Given the description of an element on the screen output the (x, y) to click on. 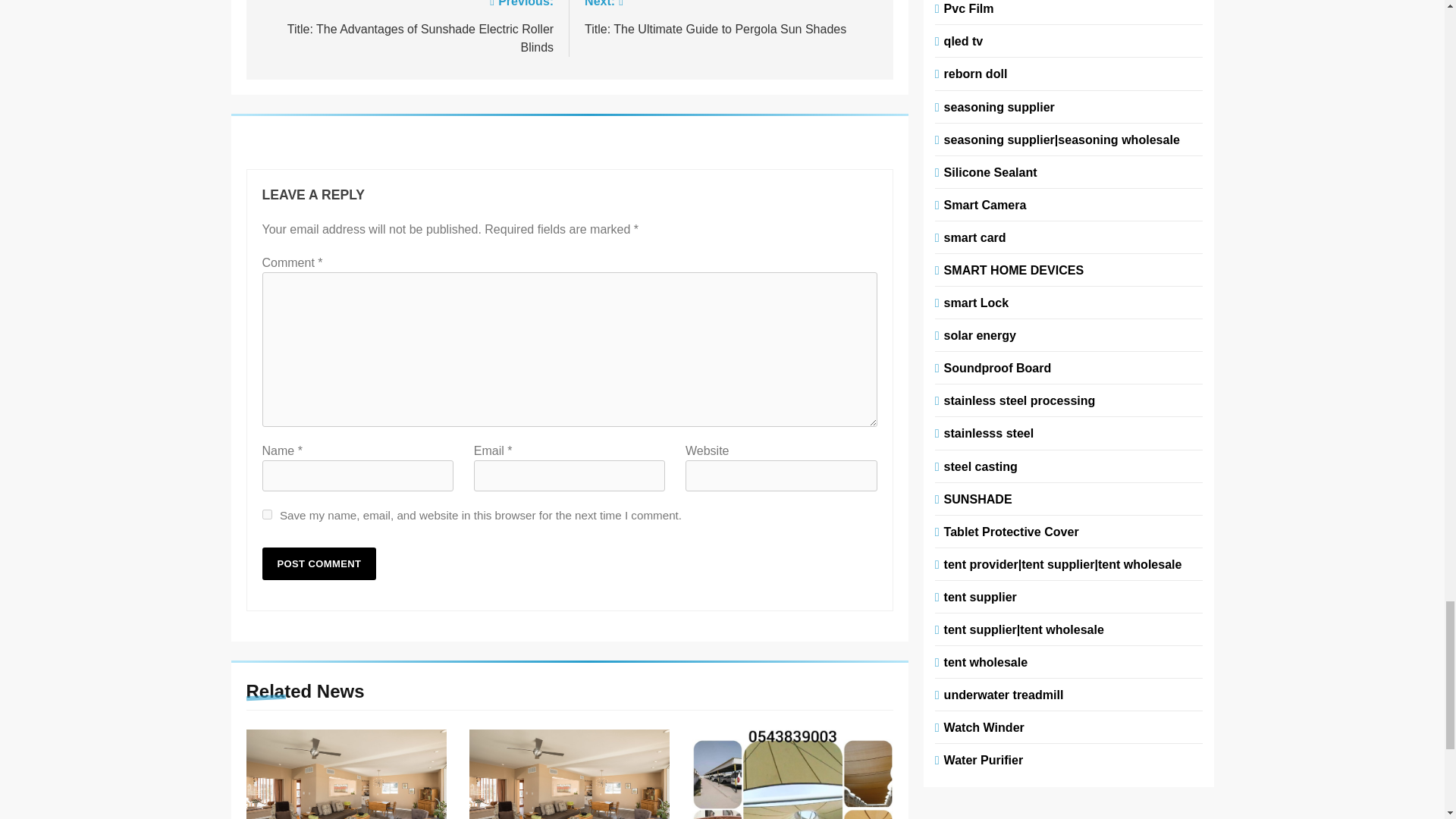
Post Comment (319, 563)
yes (267, 514)
Post Comment (731, 18)
